Given the description of an element on the screen output the (x, y) to click on. 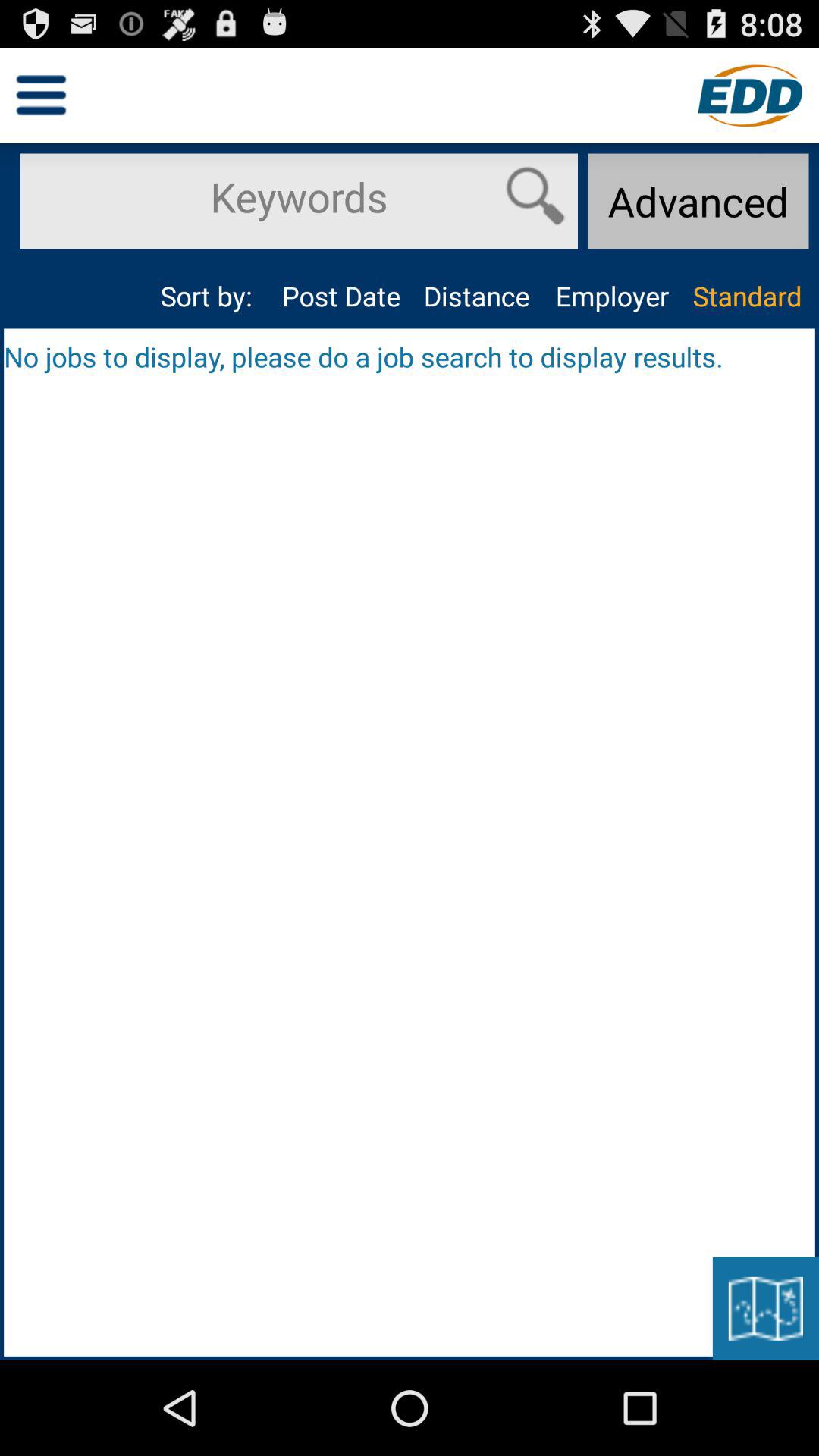
launch distance item (476, 295)
